Given the description of an element on the screen output the (x, y) to click on. 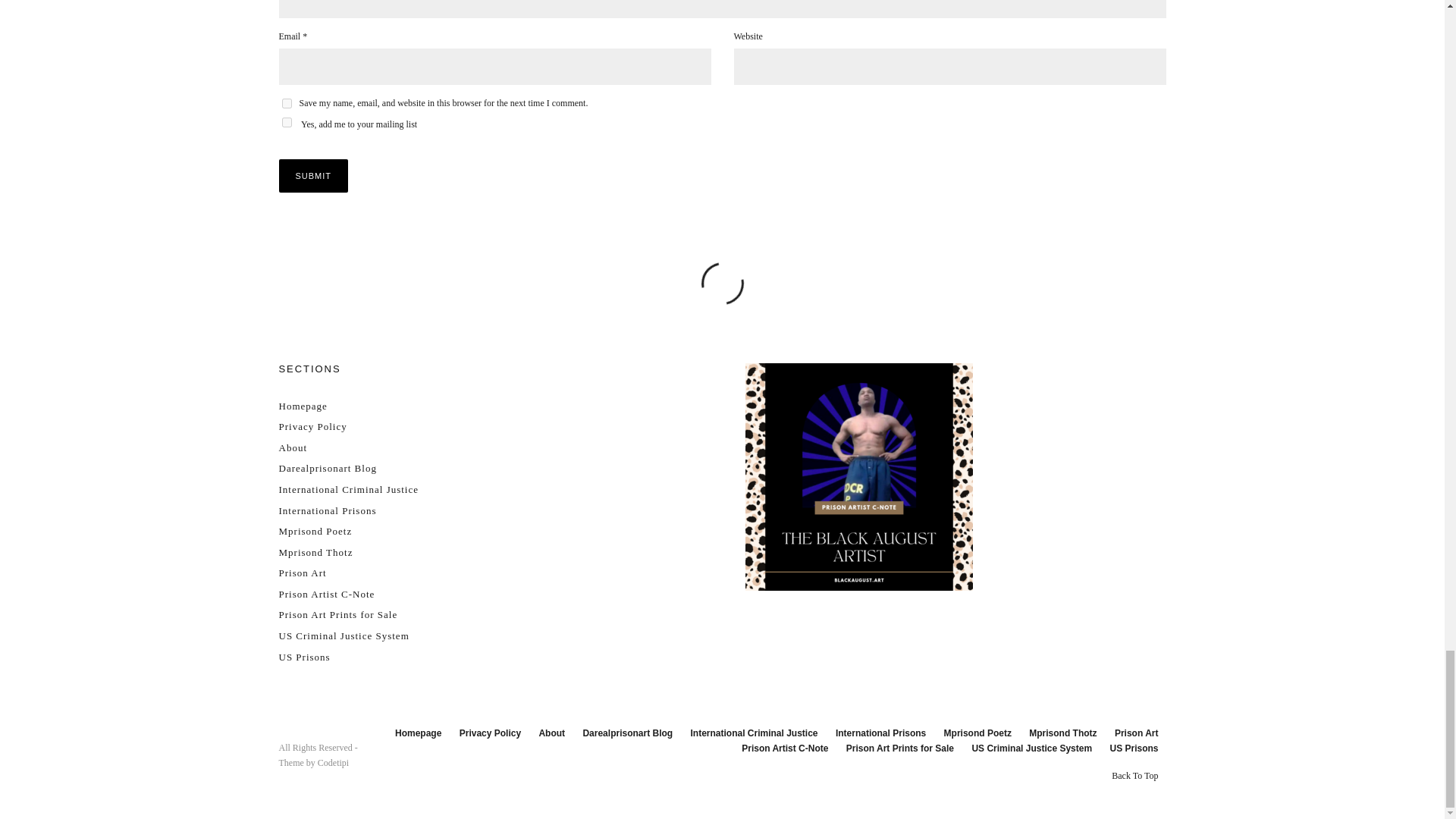
Submit (314, 175)
yes (287, 103)
1 (287, 122)
